Given the description of an element on the screen output the (x, y) to click on. 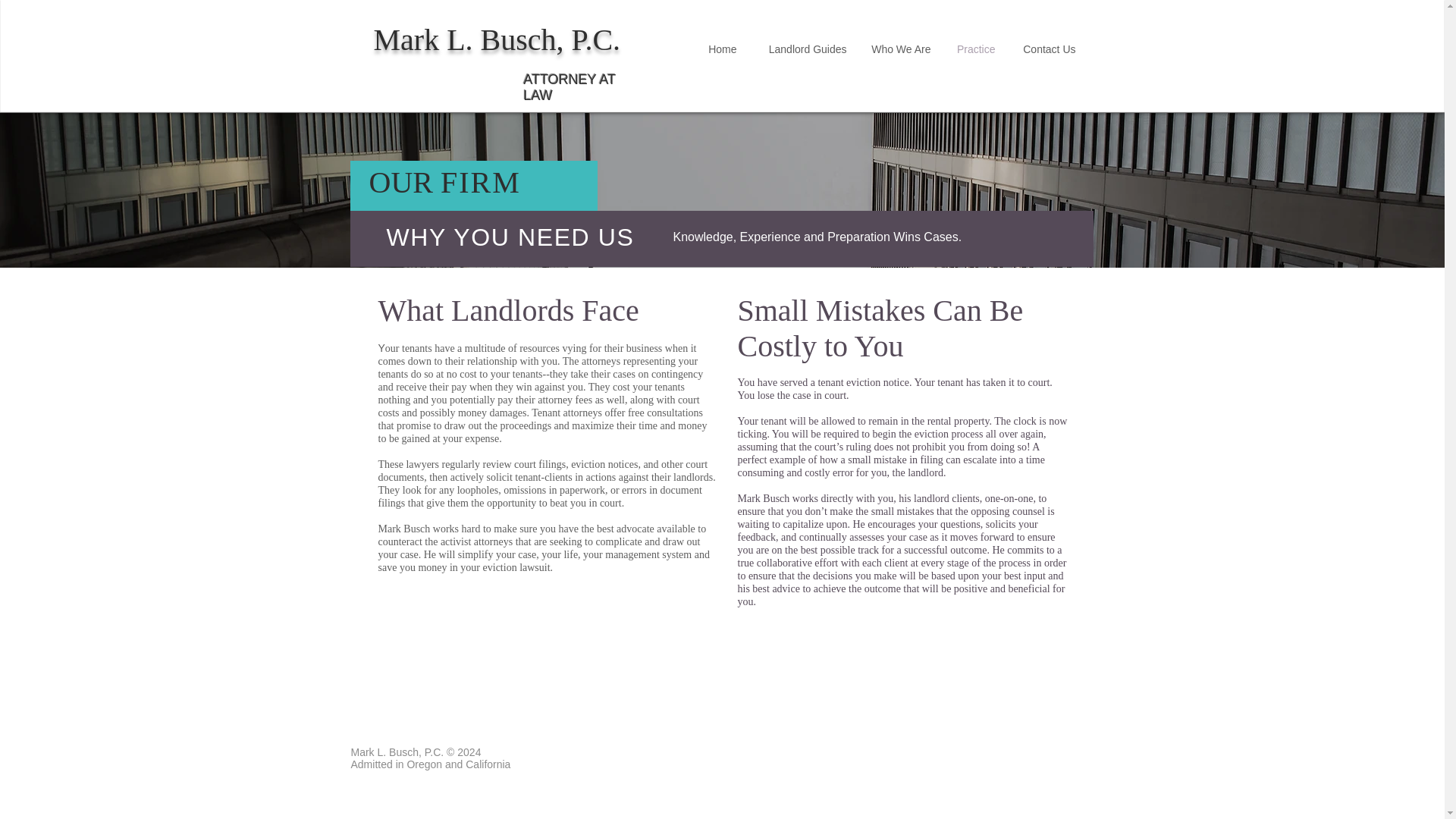
Home (721, 49)
Landlord Guides (802, 49)
Who We Are (900, 49)
Contact Us (1047, 49)
Practice (974, 49)
